Given the description of an element on the screen output the (x, y) to click on. 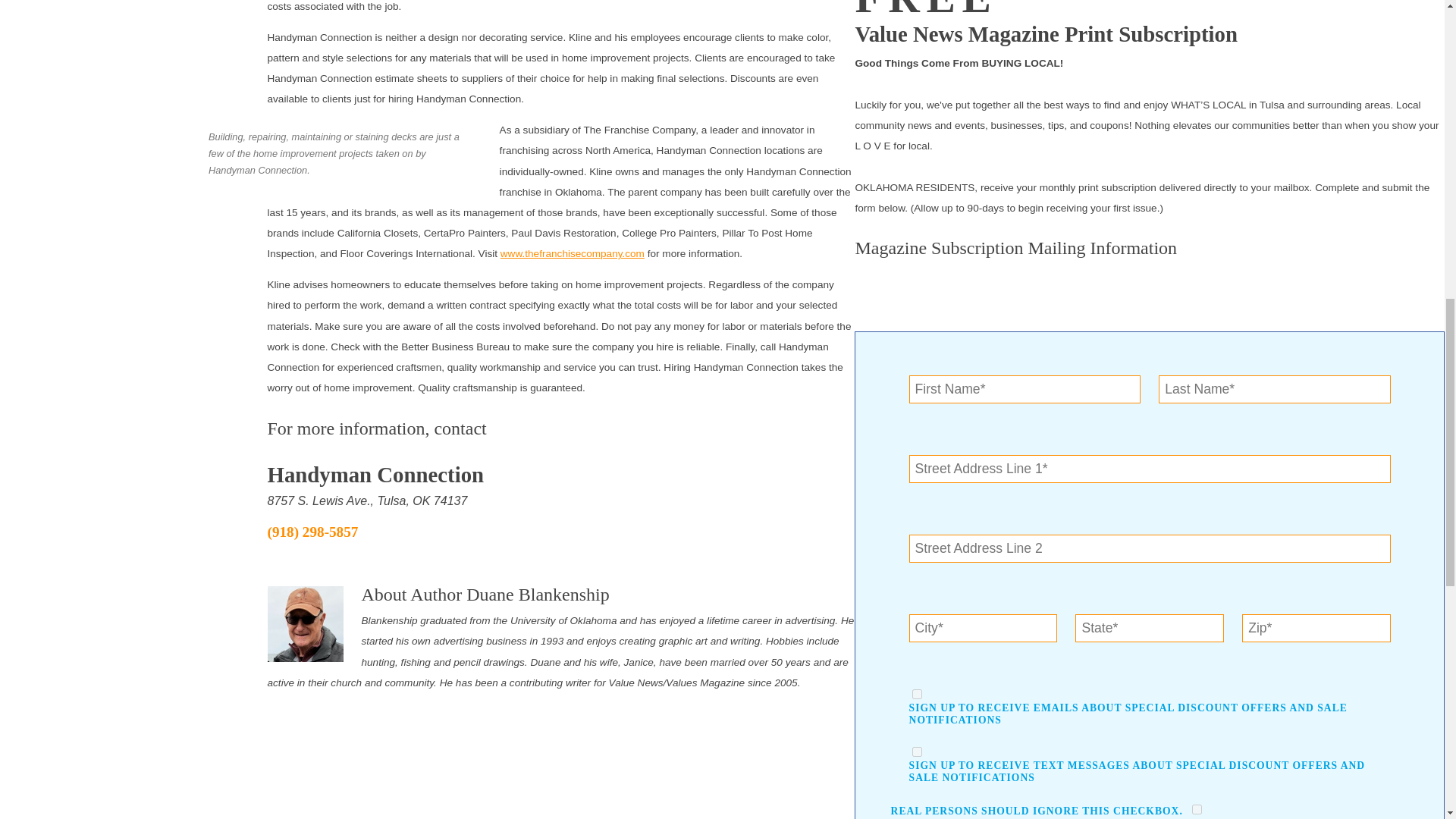
1 (916, 694)
1 (1197, 809)
www.thefranchisecompany.com (572, 253)
1 (916, 751)
